Given the description of an element on the screen output the (x, y) to click on. 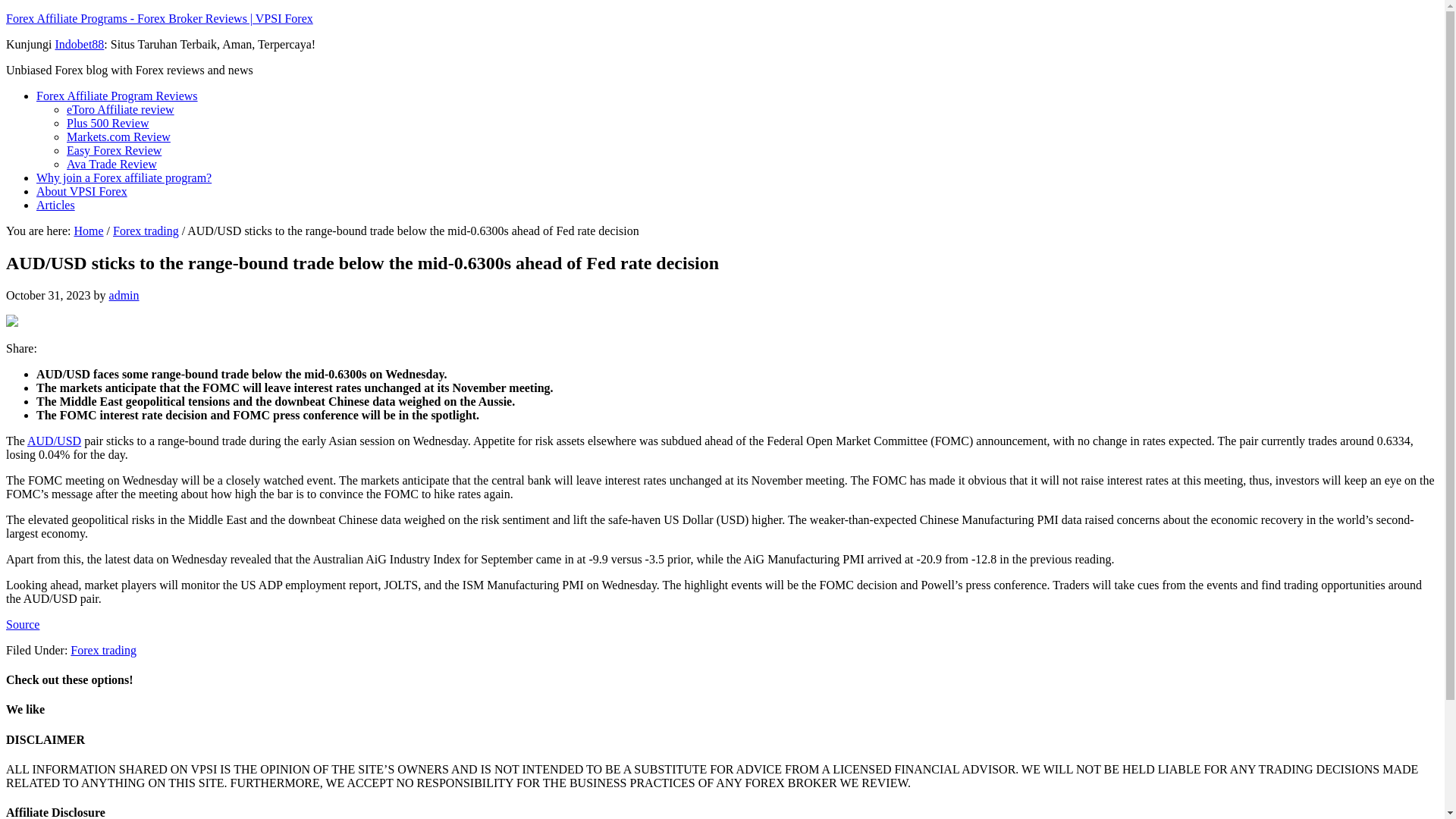
Markets.com Review (118, 136)
eToro Affiliate review (120, 109)
Forex trading (146, 230)
Plus 500 Review (107, 123)
Articles (55, 205)
Easy Forex Review (113, 150)
Home (88, 230)
Forex trading (102, 649)
admin (124, 295)
Indobet88 (79, 43)
